Given the description of an element on the screen output the (x, y) to click on. 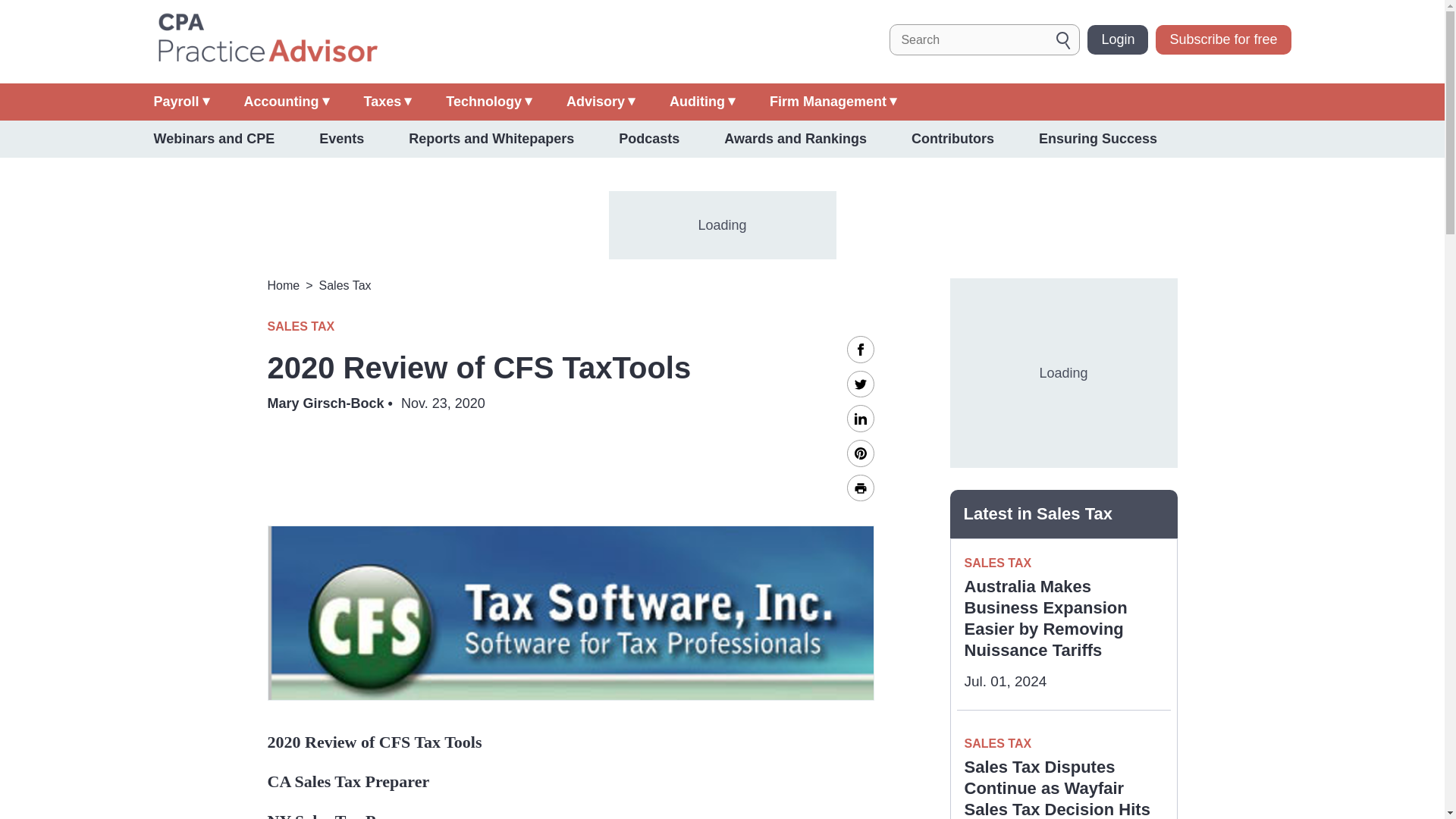
Advisory (600, 101)
Accounting (287, 101)
Home (266, 39)
Auditing (702, 101)
Payroll (180, 101)
Login (1117, 39)
Taxes (388, 101)
Technology (488, 101)
Subscribe for free (1223, 39)
